Given the description of an element on the screen output the (x, y) to click on. 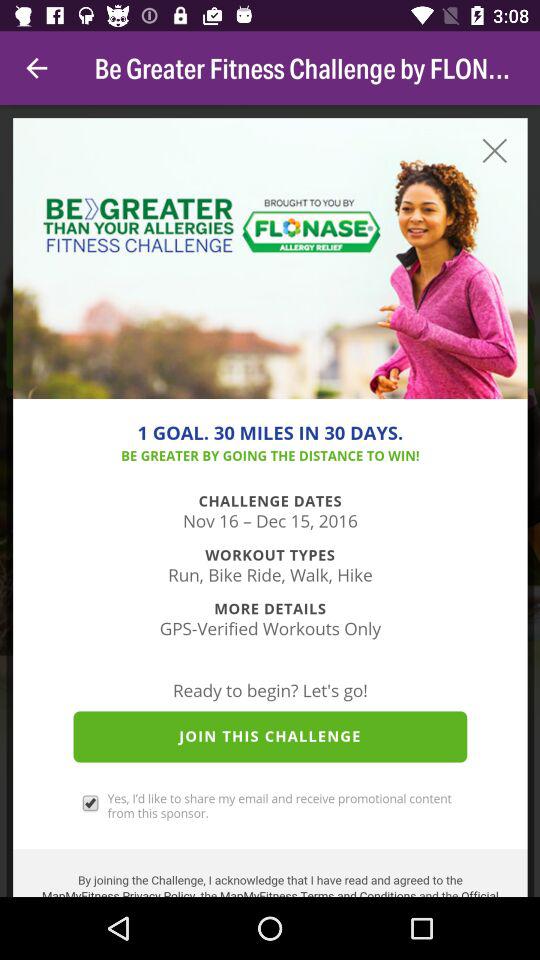
advertisement page (270, 501)
